Given the description of an element on the screen output the (x, y) to click on. 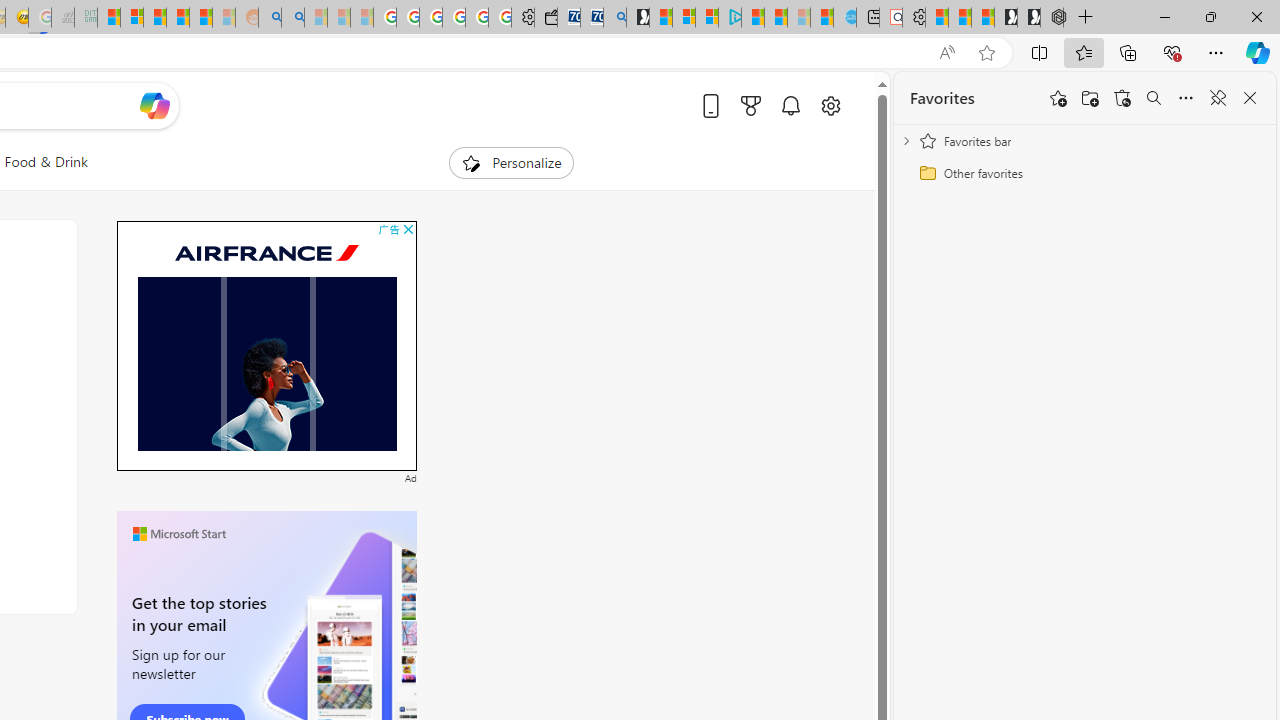
Unpin favorites (1217, 98)
Add this page to favorites (1058, 98)
Cheap Car Rentals - Save70.com (591, 17)
Add folder (1089, 98)
Personalize (511, 162)
